Given the description of an element on the screen output the (x, y) to click on. 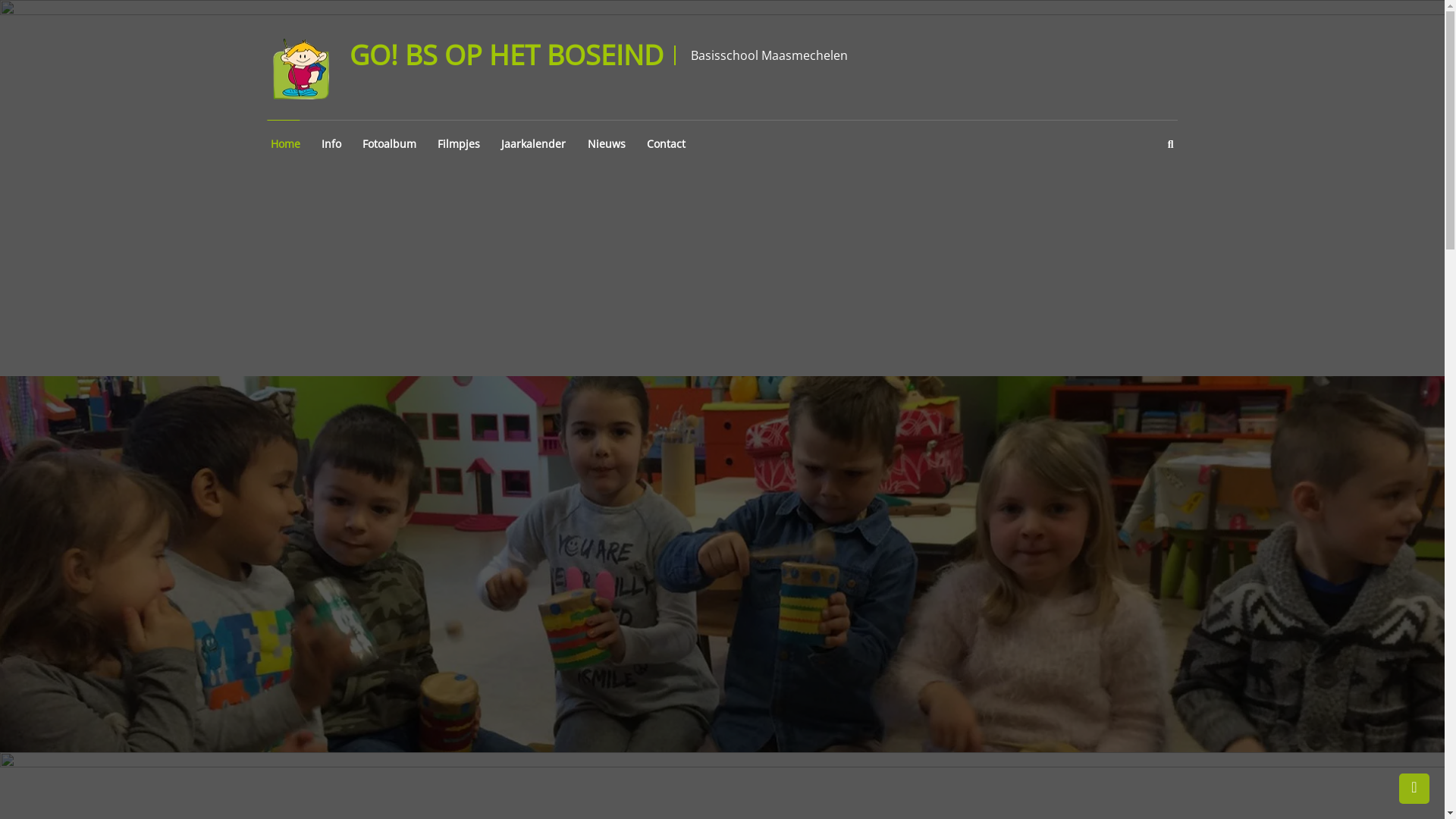
Nieuws Element type: text (603, 143)
Search Element type: text (826, 427)
GO! BS OP HET BOSEIND Element type: text (505, 54)
Info Element type: text (329, 143)
Home Element type: text (282, 143)
Contact Element type: text (664, 143)
Filmpjes Element type: text (457, 143)
Fotoalbum Element type: text (387, 143)
Jaarkalender Element type: text (531, 143)
